Given the description of an element on the screen output the (x, y) to click on. 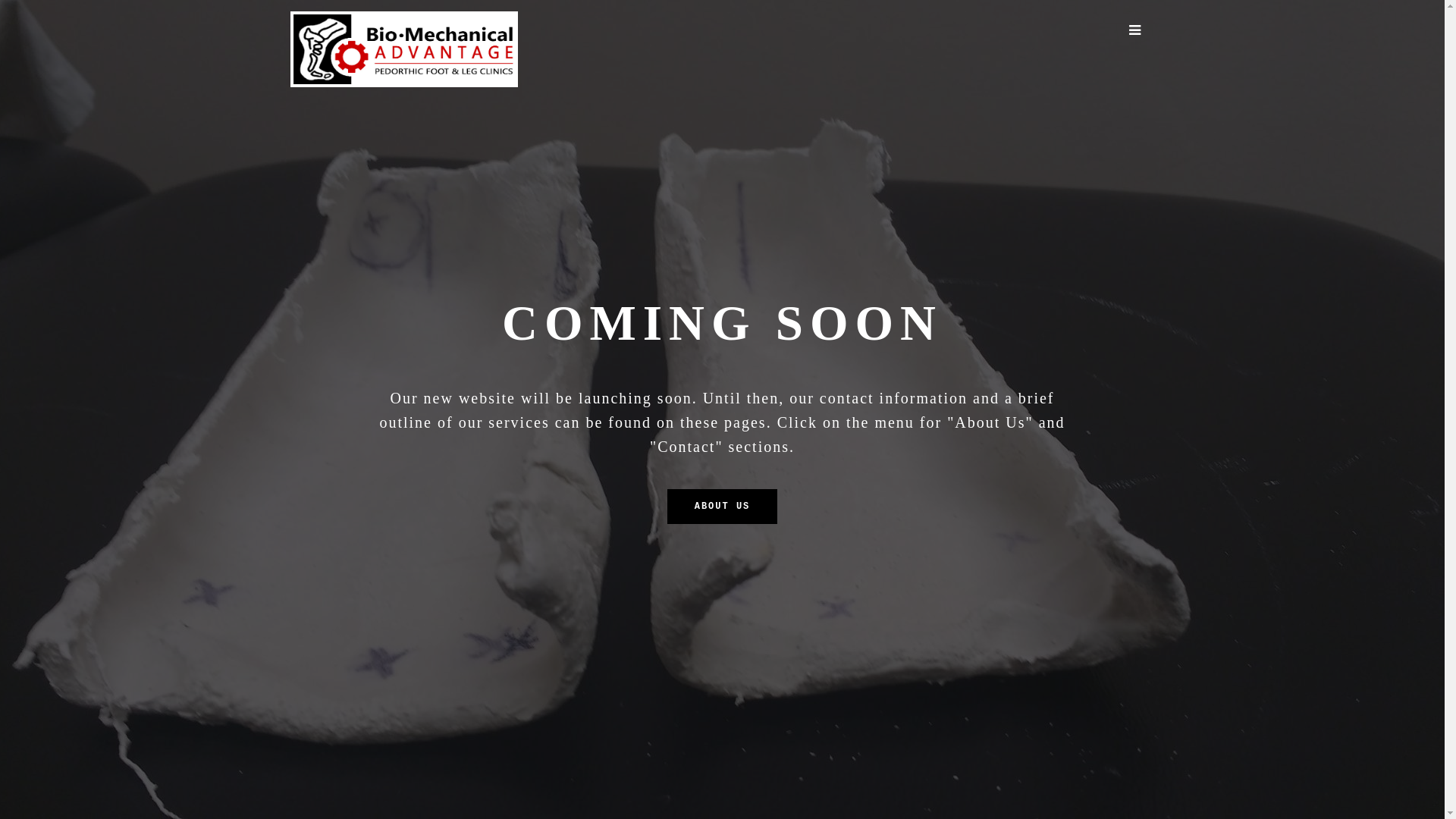
ABOUT US Element type: text (722, 506)
